Given the description of an element on the screen output the (x, y) to click on. 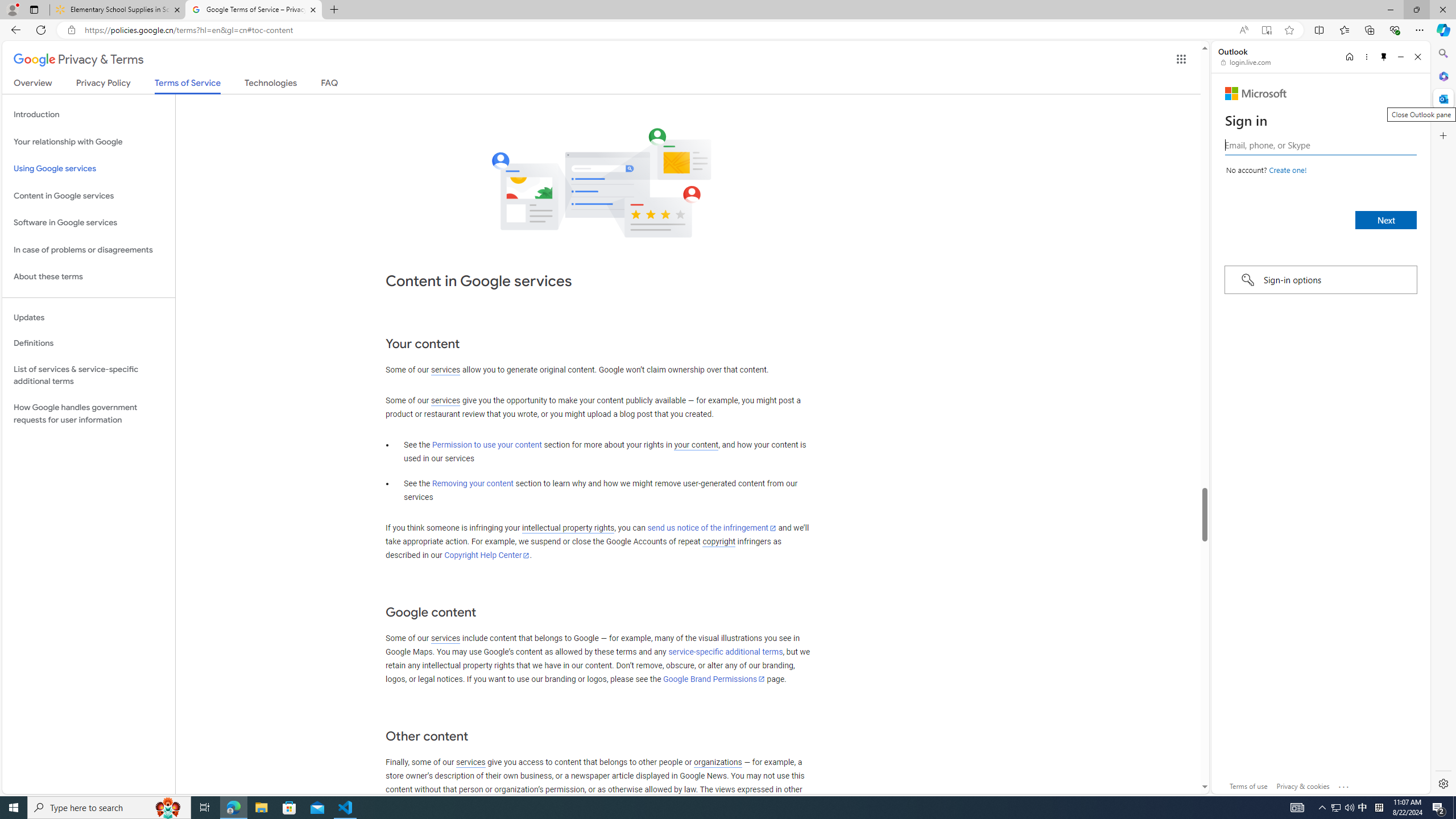
Next (1385, 220)
